Given the description of an element on the screen output the (x, y) to click on. 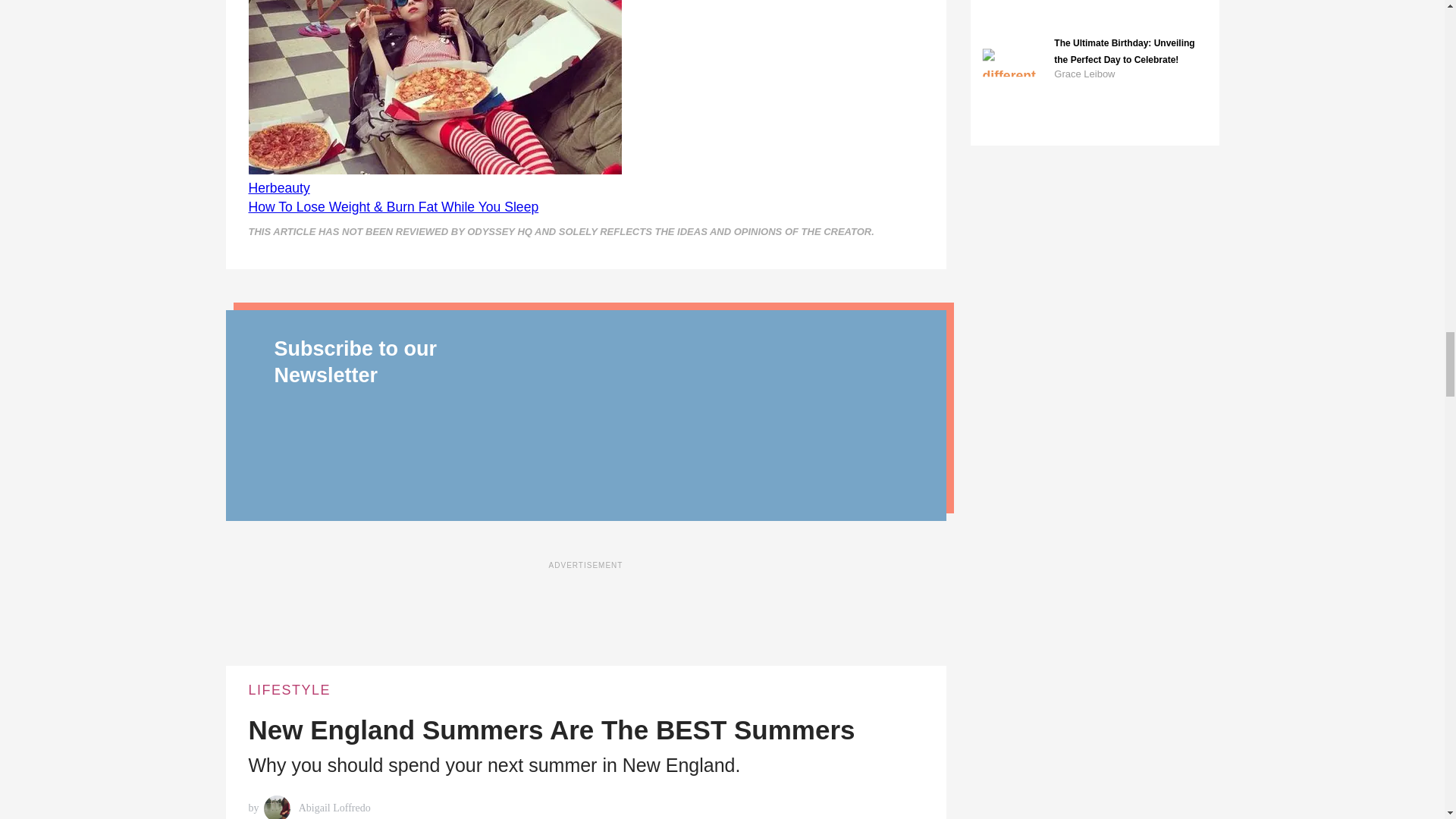
Form 0 (713, 419)
